Given the description of an element on the screen output the (x, y) to click on. 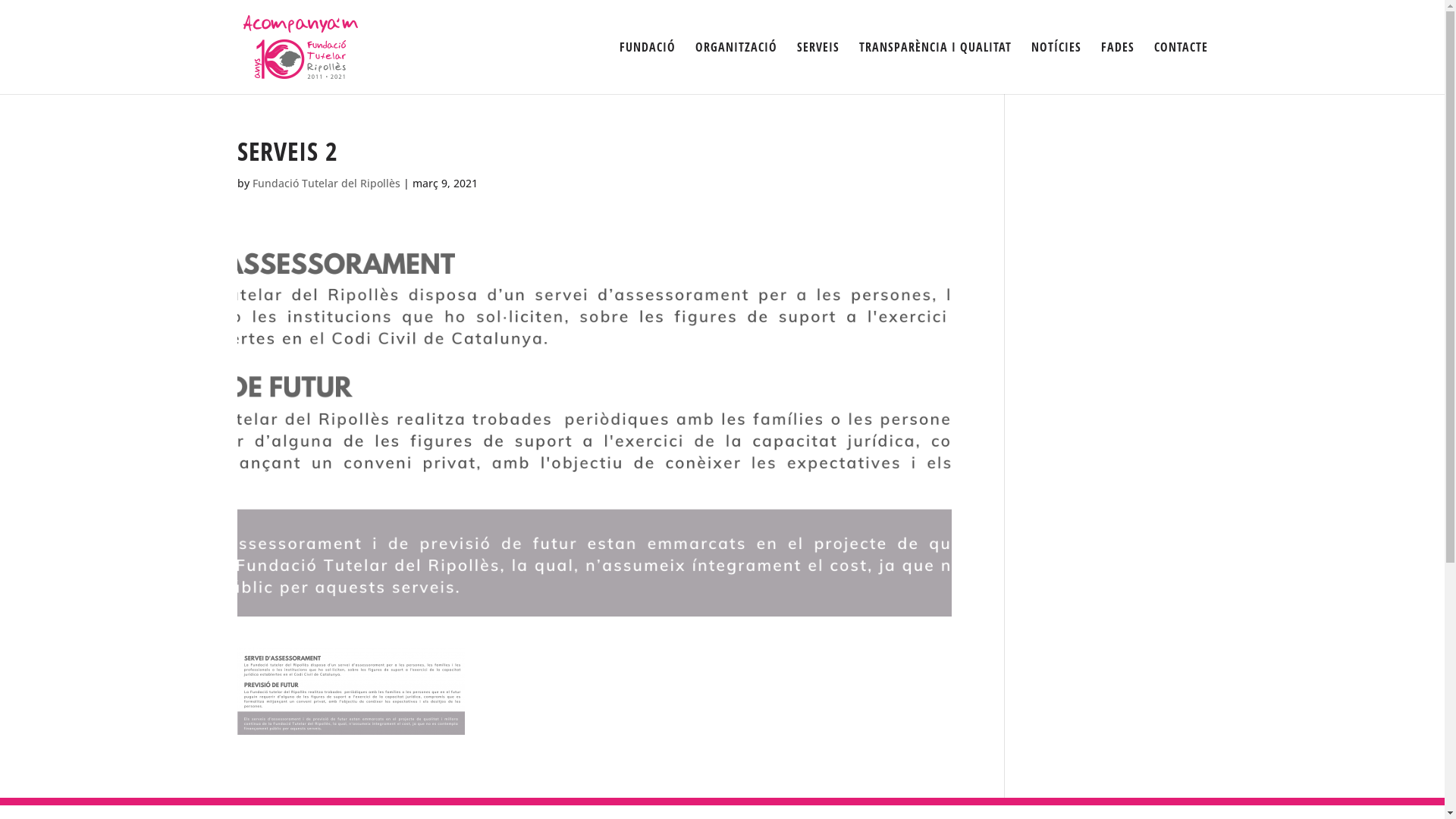
FADES Element type: text (1117, 67)
CONTACTE Element type: text (1181, 67)
SERVEIS Element type: text (817, 67)
